Given the description of an element on the screen output the (x, y) to click on. 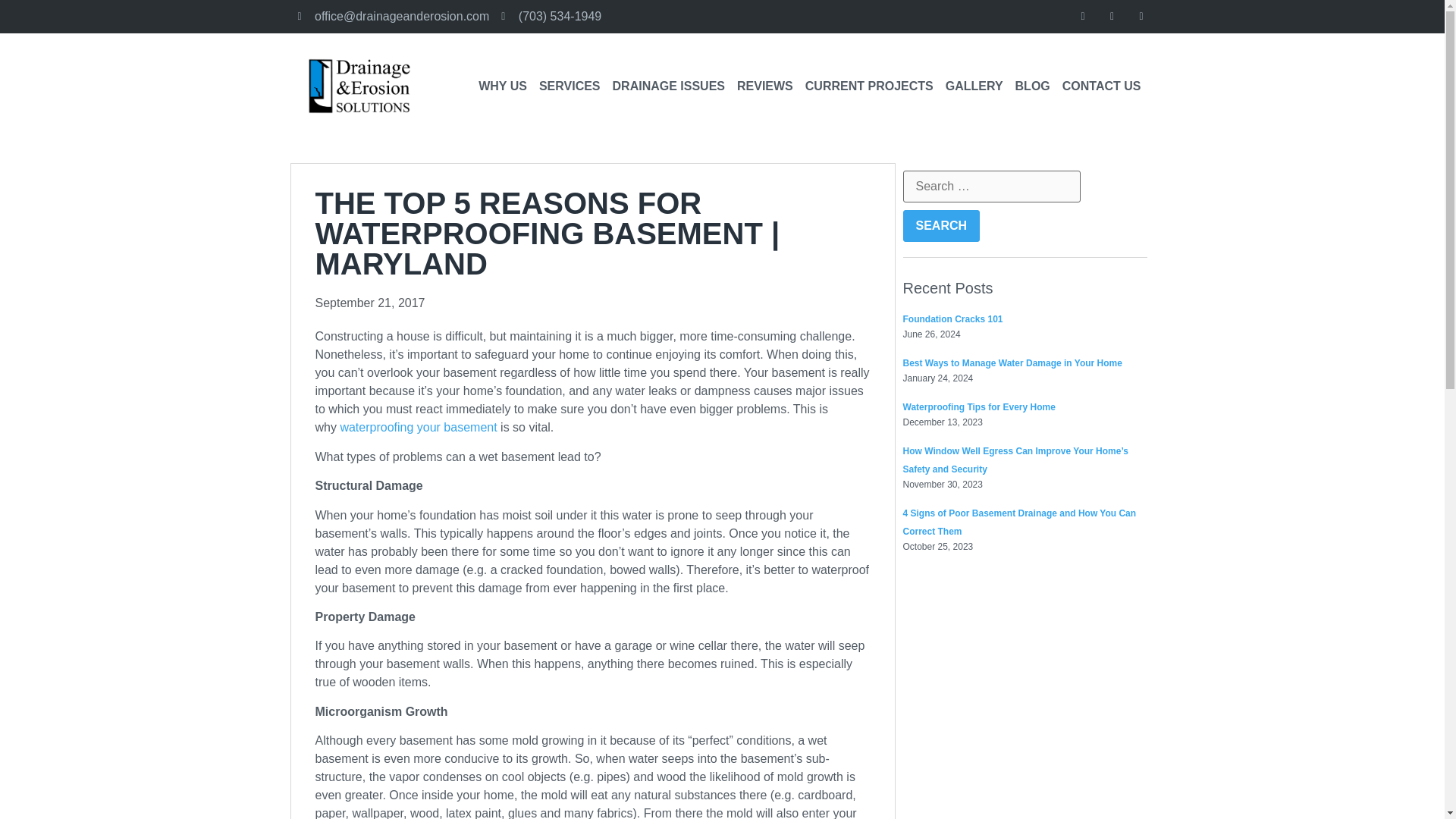
SERVICES (569, 86)
Search (940, 225)
GALLERY (974, 86)
REVIEWS (764, 86)
WHY US (501, 86)
Search (940, 225)
CONTACT US (1102, 86)
BLOG (1033, 86)
DRAINAGE ISSUES (668, 86)
CURRENT PROJECTS (869, 86)
